Given the description of an element on the screen output the (x, y) to click on. 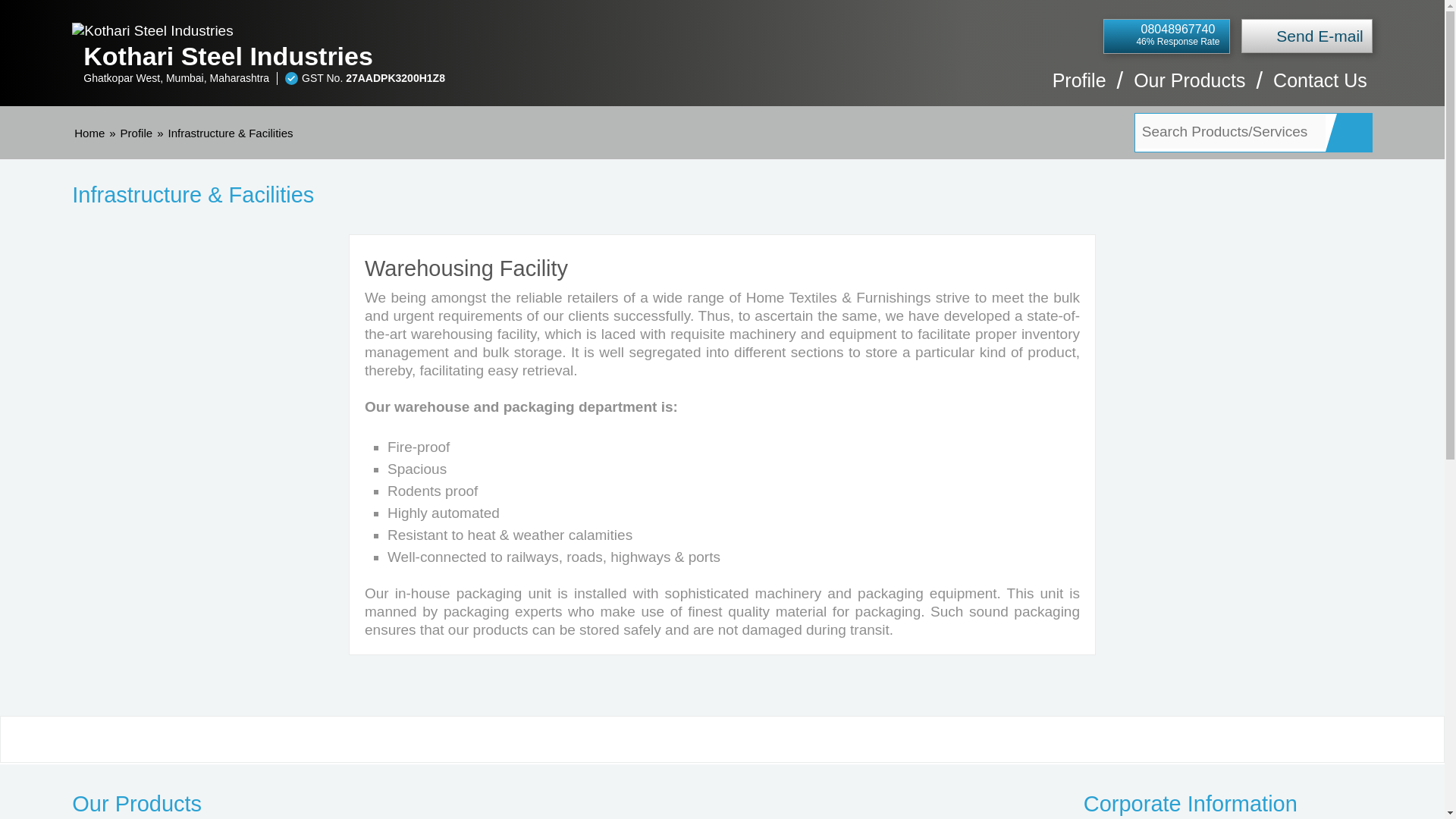
Contact Us (1319, 88)
Profile (1079, 88)
Profile (136, 132)
Our Products (1189, 88)
Kothari Steel Industries (421, 55)
Our Products (494, 803)
Home (89, 132)
